Given the description of an element on the screen output the (x, y) to click on. 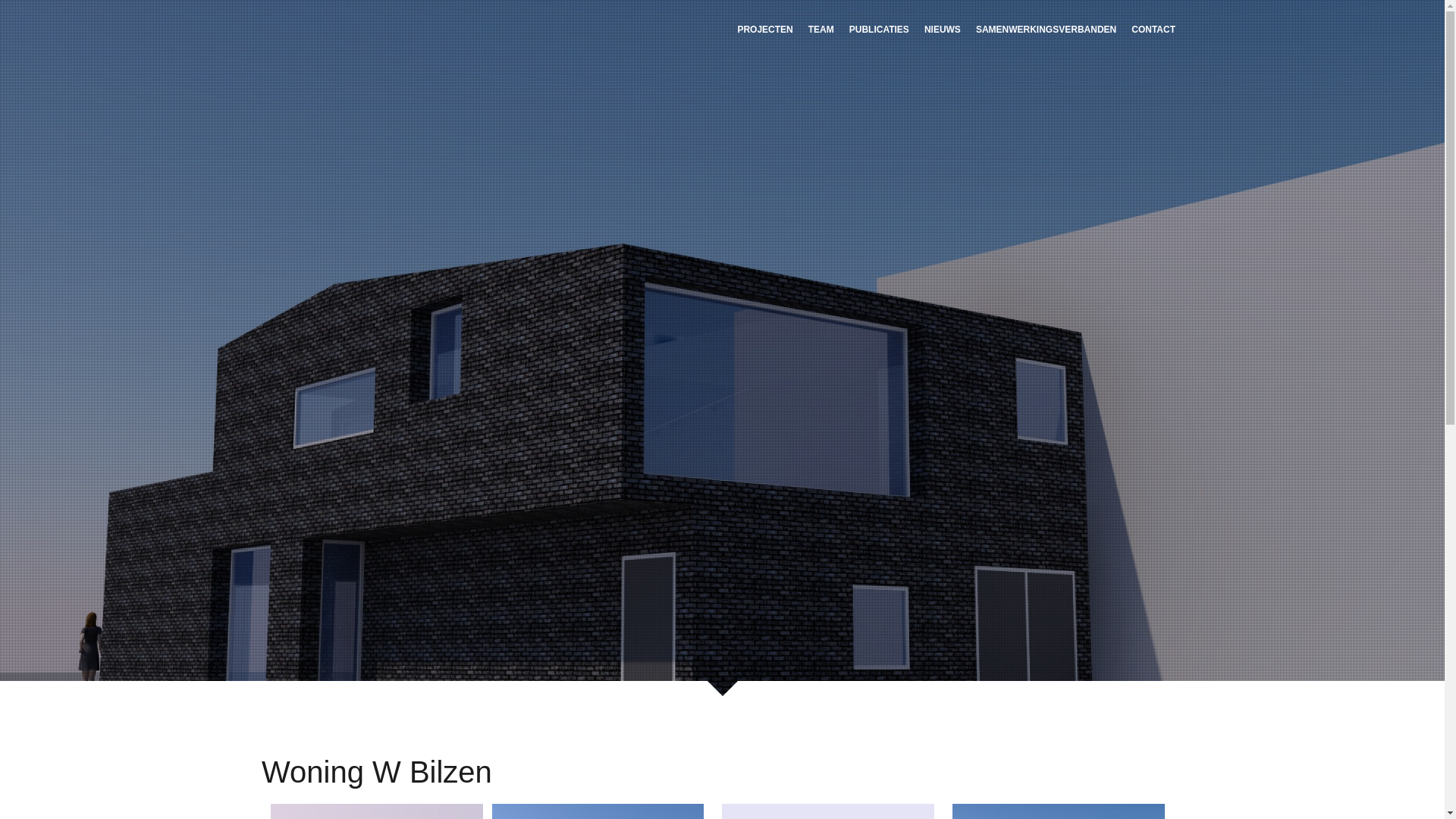
PROJECTEN Element type: text (764, 28)
CONTACT Element type: text (1153, 28)
SAMENWERKINGSVERBANDEN Element type: text (1045, 28)
PUBLICATIES Element type: text (878, 28)
TEAM Element type: text (820, 28)
NIEUWS Element type: text (942, 28)
